Given the description of an element on the screen output the (x, y) to click on. 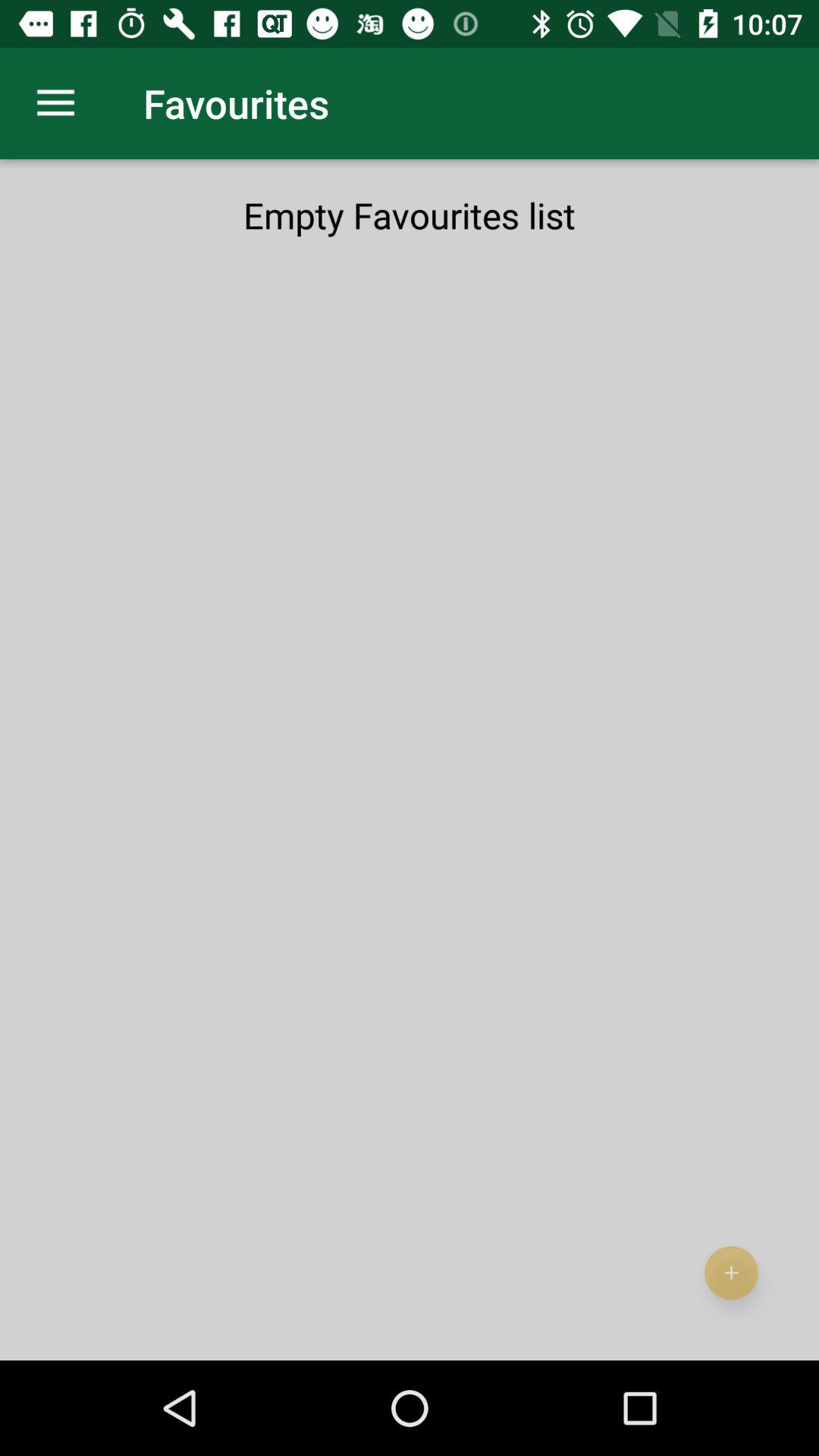
turn on empty favourites list (409, 215)
